Given the description of an element on the screen output the (x, y) to click on. 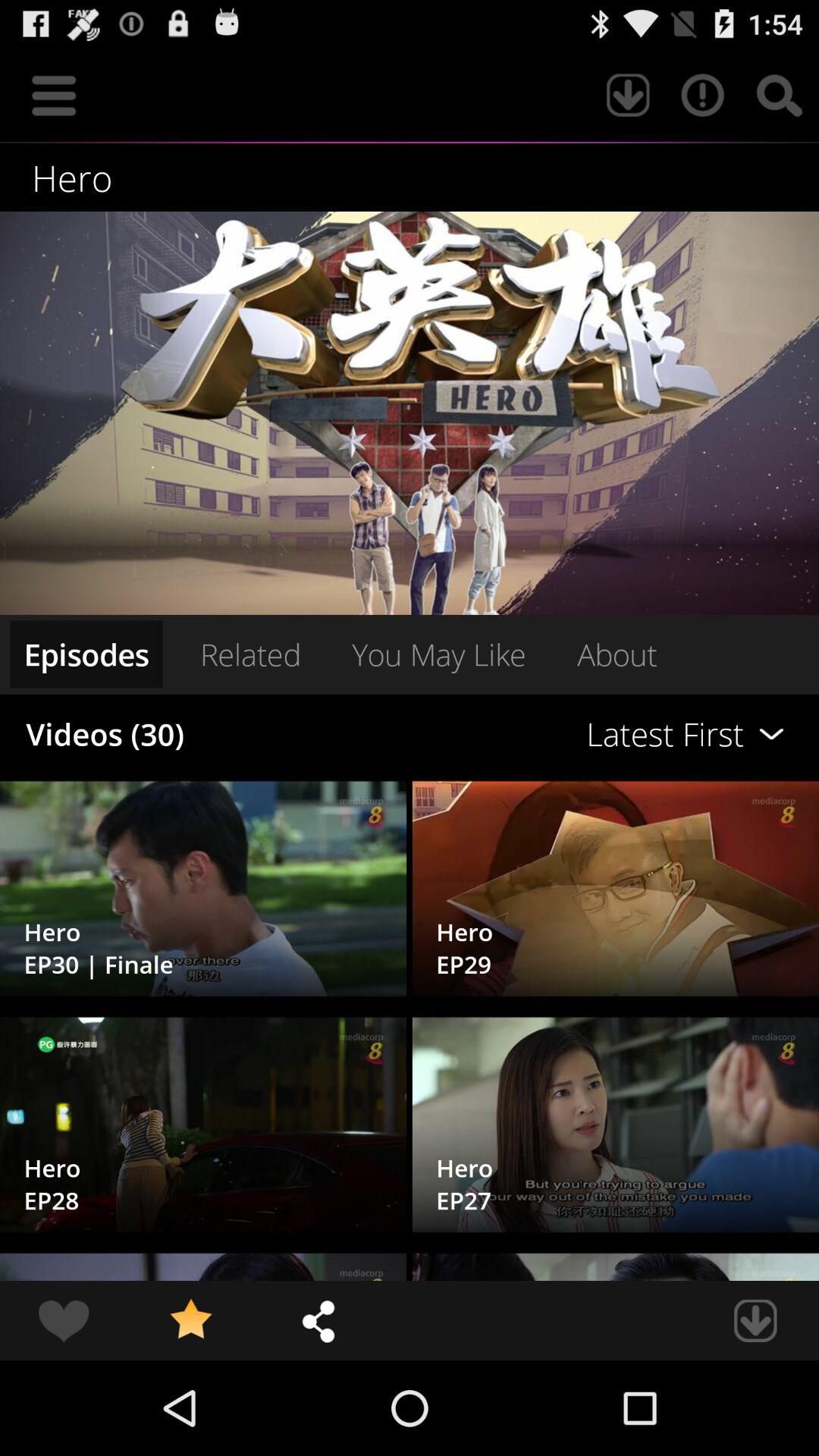
click the icon above hero item (53, 95)
